Given the description of an element on the screen output the (x, y) to click on. 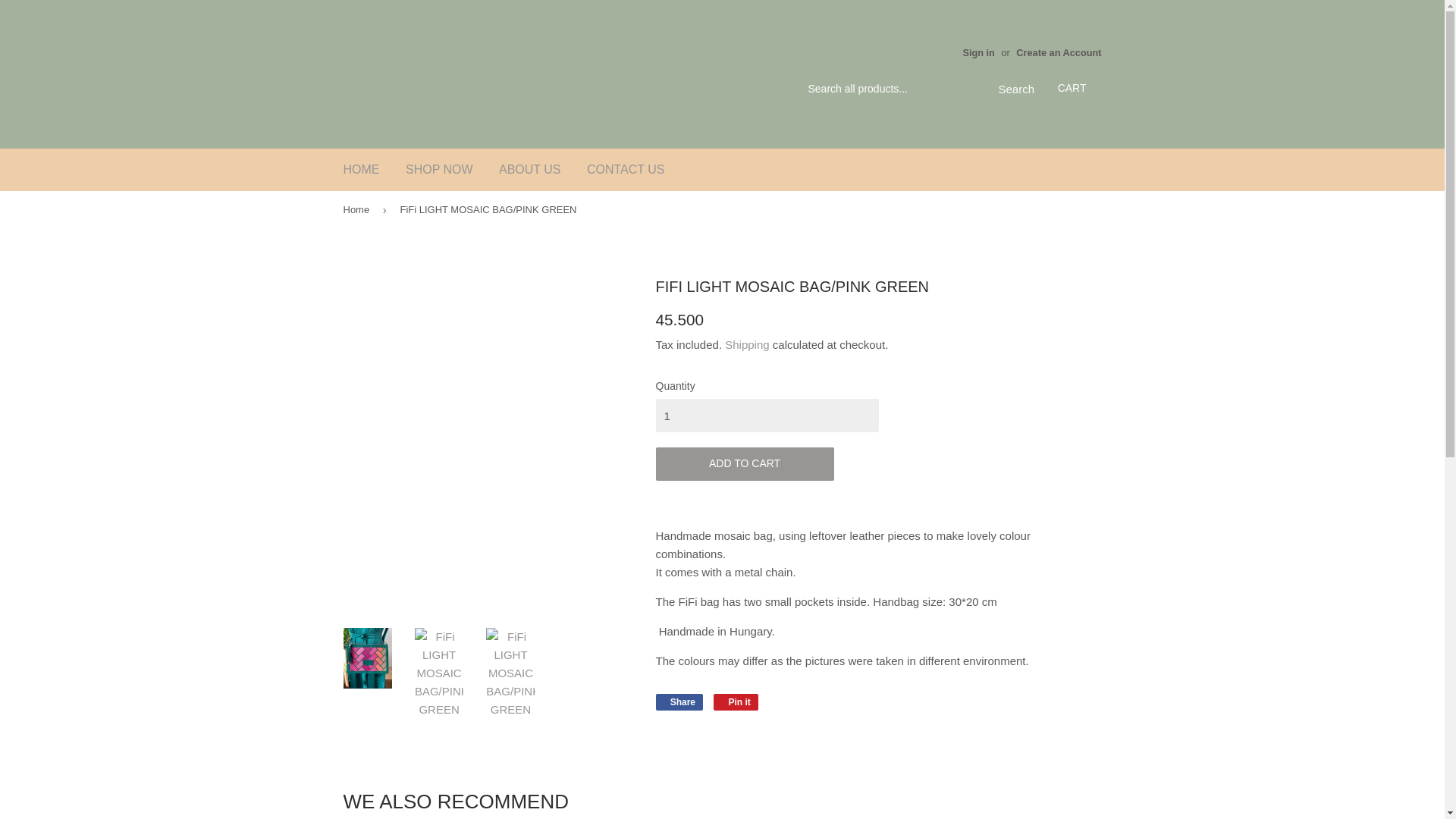
Share on Facebook (679, 701)
CART (1072, 88)
Sign in (978, 52)
Search (1009, 89)
Create an Account (1058, 52)
Pin on Pinterest (735, 701)
1 (766, 415)
